Given the description of an element on the screen output the (x, y) to click on. 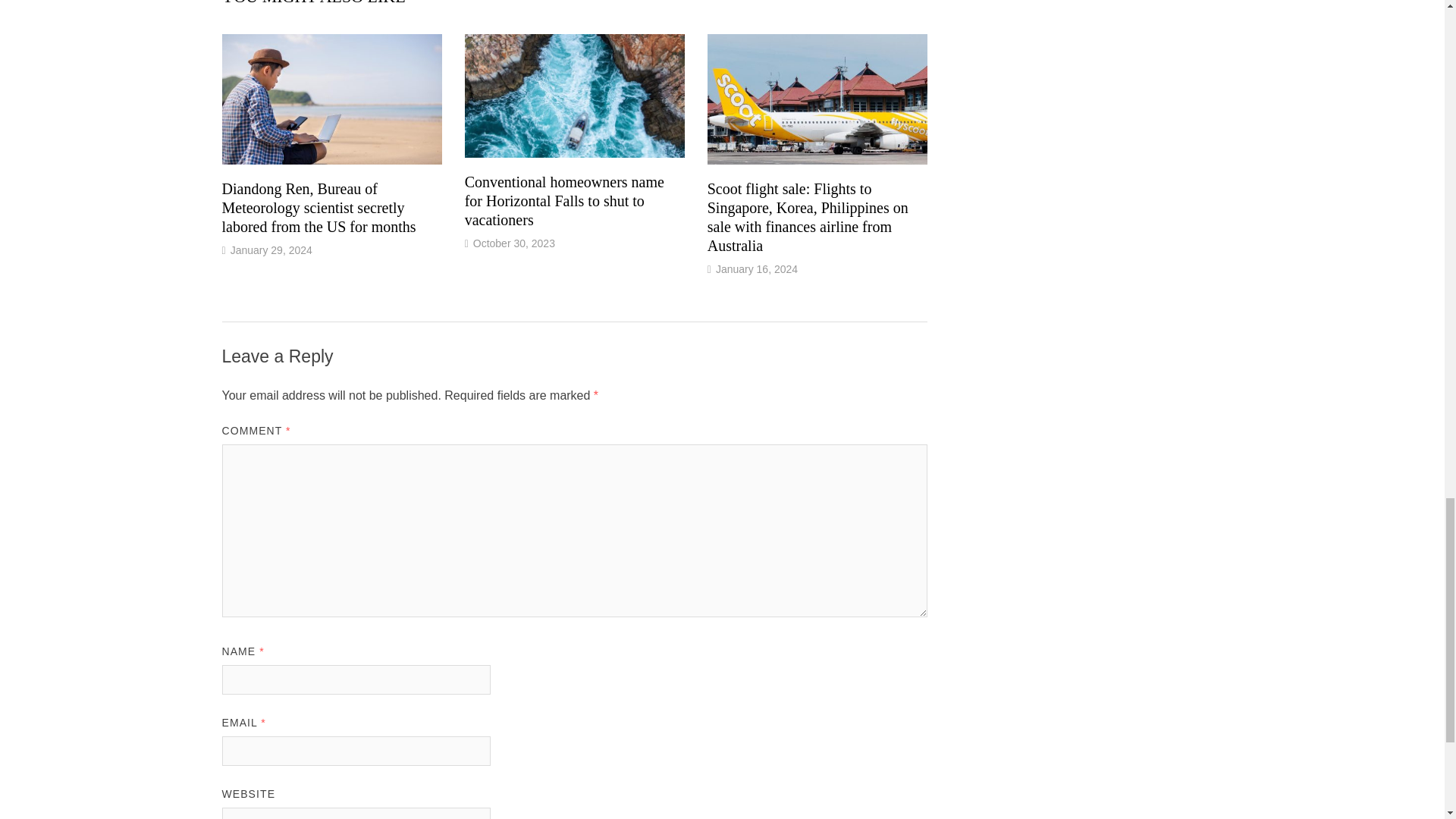
October 30, 2023 (513, 243)
January 29, 2024 (271, 250)
